Given the description of an element on the screen output the (x, y) to click on. 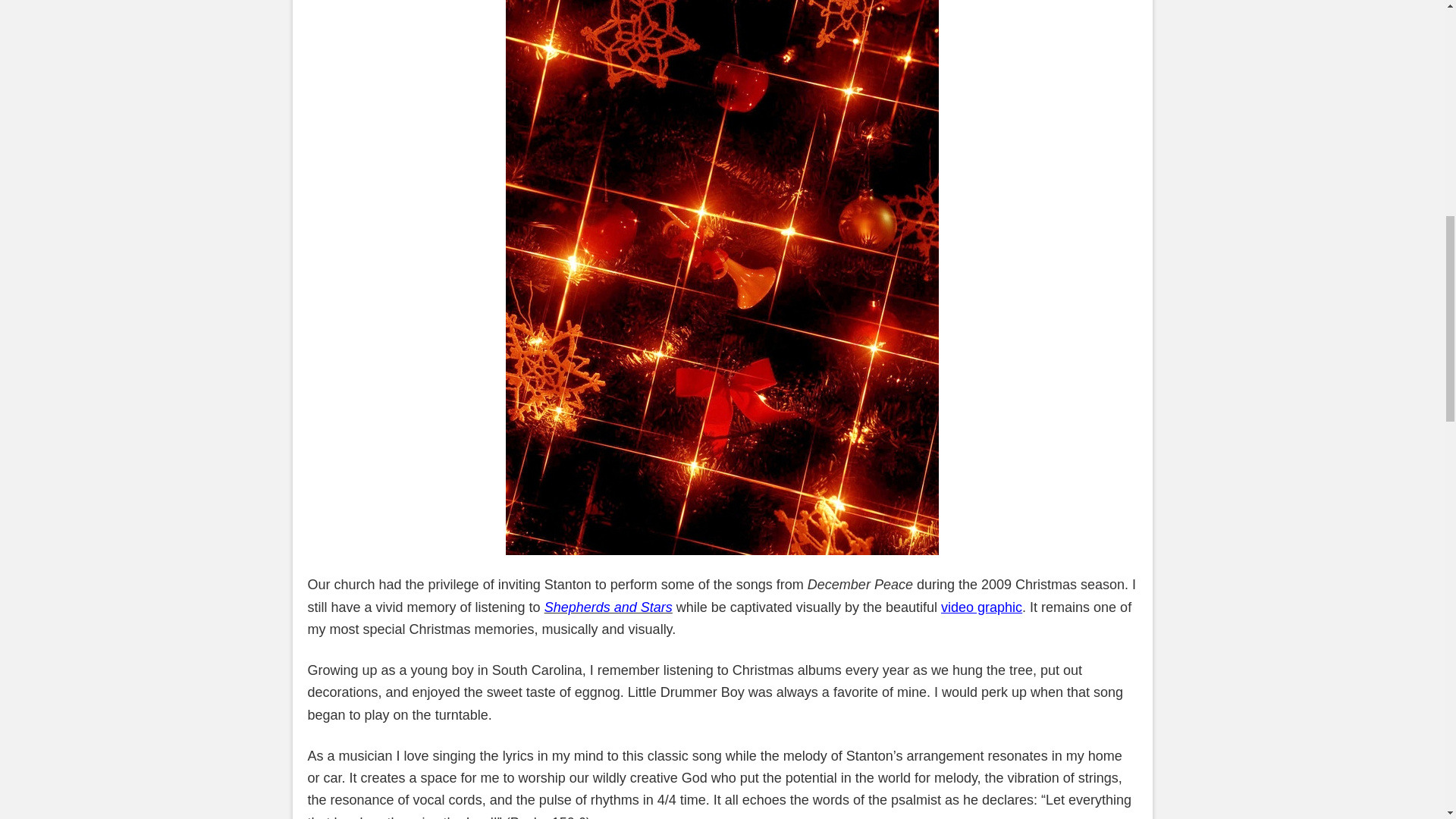
video graphic (981, 606)
Shepherds and Stars (608, 606)
